Given the description of an element on the screen output the (x, y) to click on. 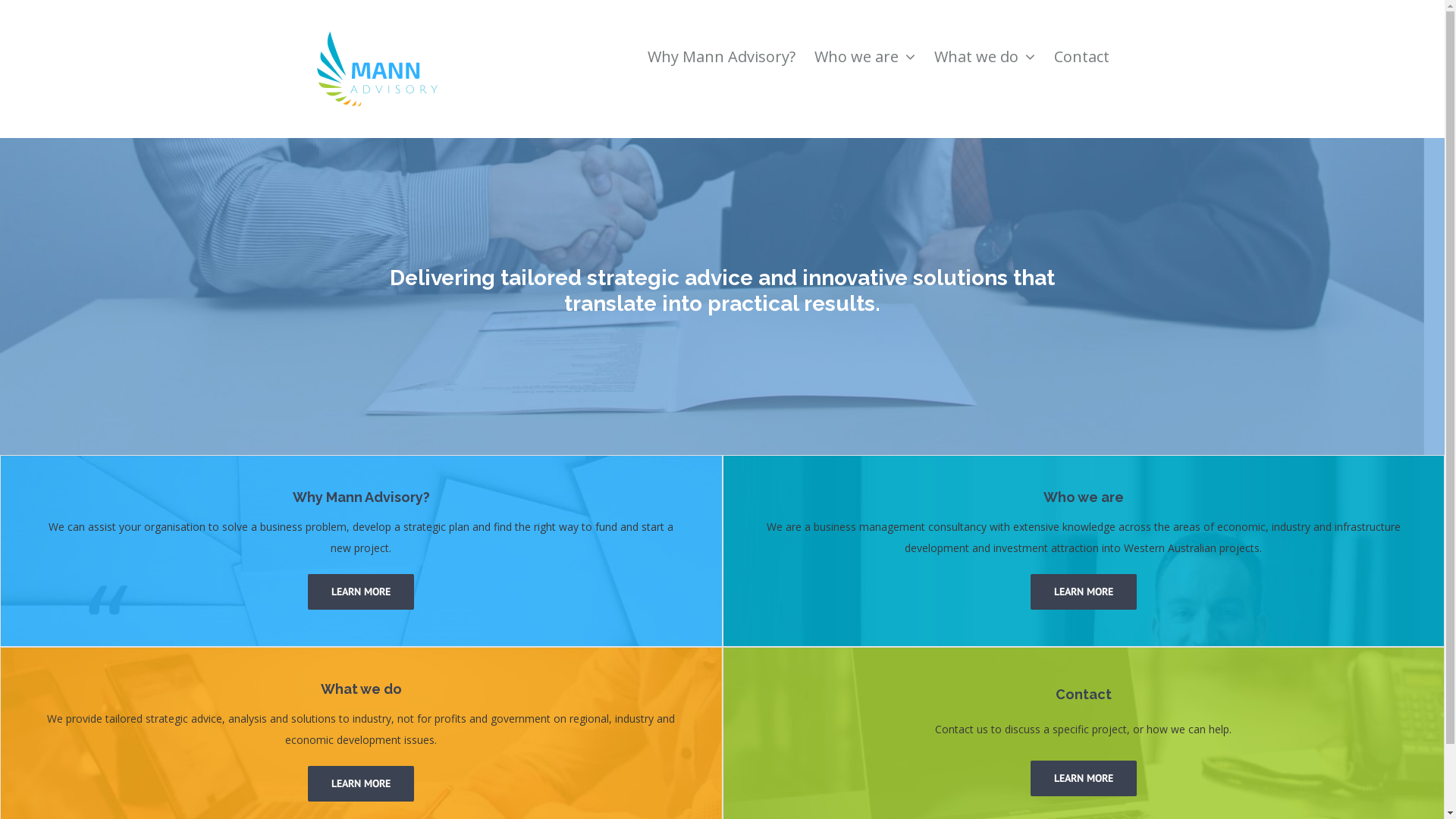
What we do Element type: text (984, 38)
LEARN MORE Element type: text (360, 591)
Why Mann Advisory? Element type: text (721, 38)
LEARN MORE Element type: text (360, 783)
Contact Element type: text (1081, 38)
LEARN MORE Element type: text (1083, 778)
Who we are Element type: text (864, 38)
LEARN MORE Element type: text (1083, 591)
